Given the description of an element on the screen output the (x, y) to click on. 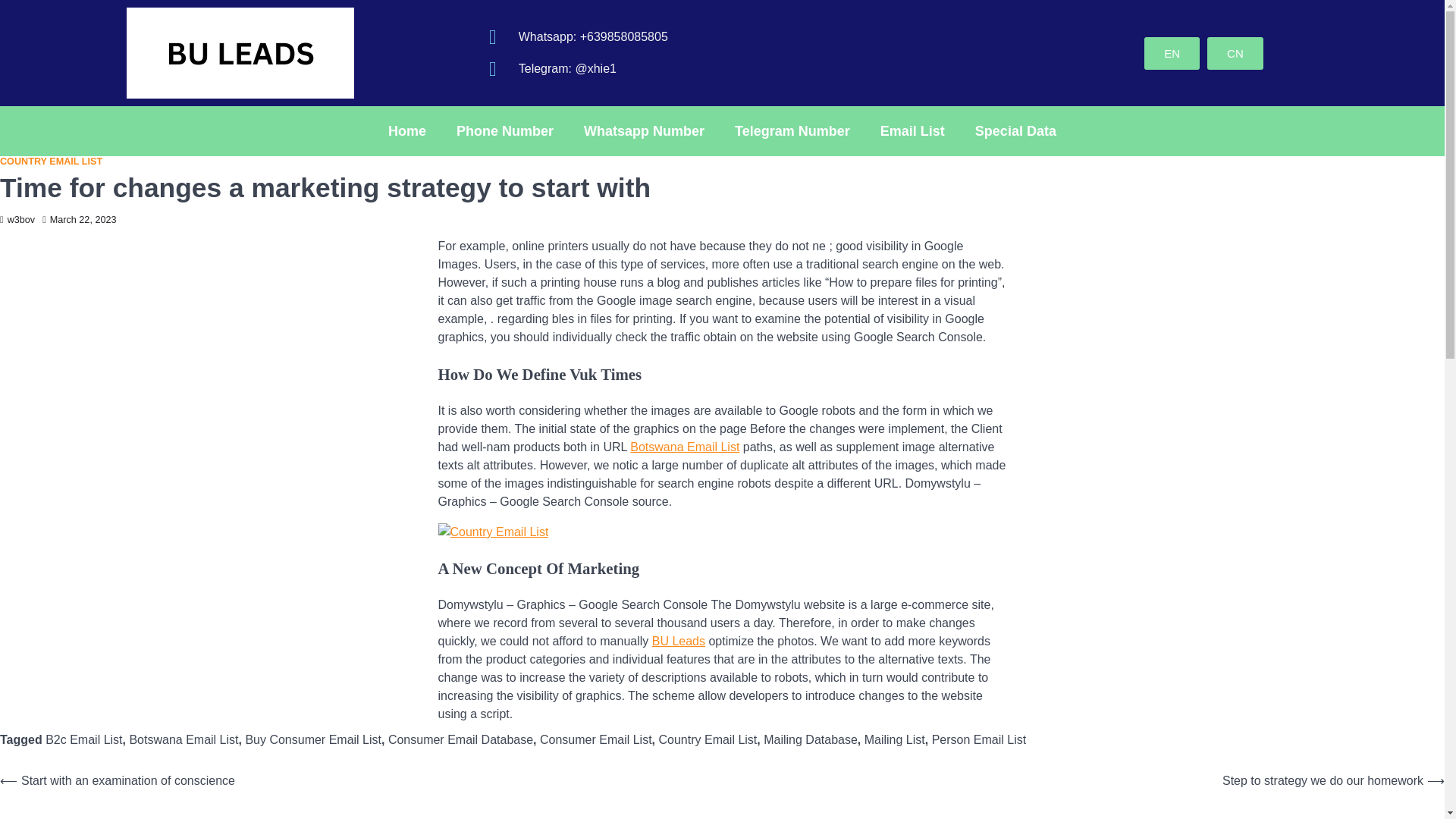
Person Email List (978, 739)
Botswana Email List (183, 739)
Telegram Number (791, 130)
COUNTRY EMAIL LIST (50, 161)
Mailing Database (809, 739)
Consumer Email Database (460, 739)
Email List (911, 130)
BU Leads (678, 640)
EN (1171, 52)
w3bov (17, 219)
Consumer Email List (596, 739)
Country Email List (707, 739)
CN (1235, 52)
Mailing List (894, 739)
B2c Email List (83, 739)
